Given the description of an element on the screen output the (x, y) to click on. 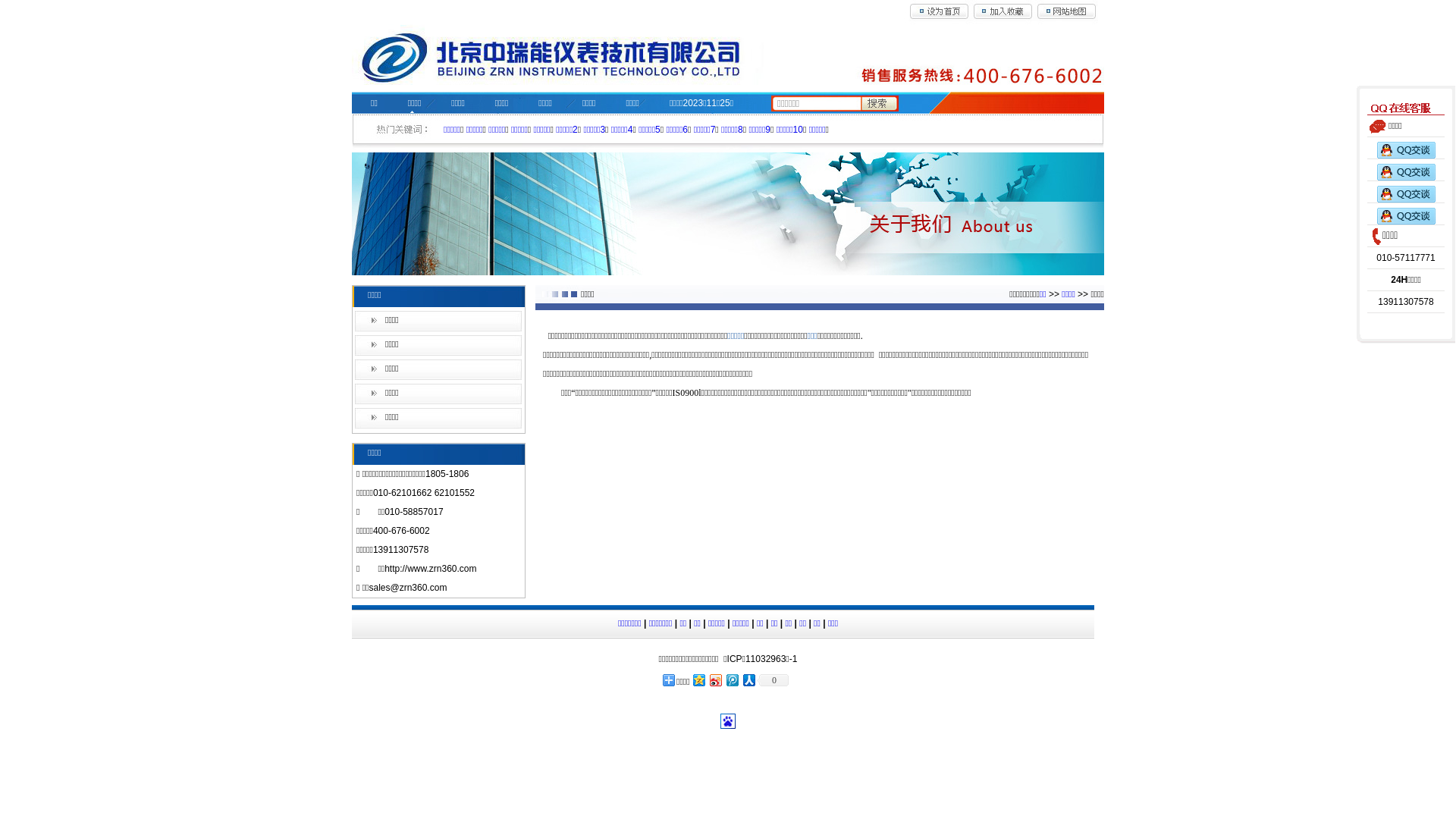
0 Element type: text (772, 680)
